Given the description of an element on the screen output the (x, y) to click on. 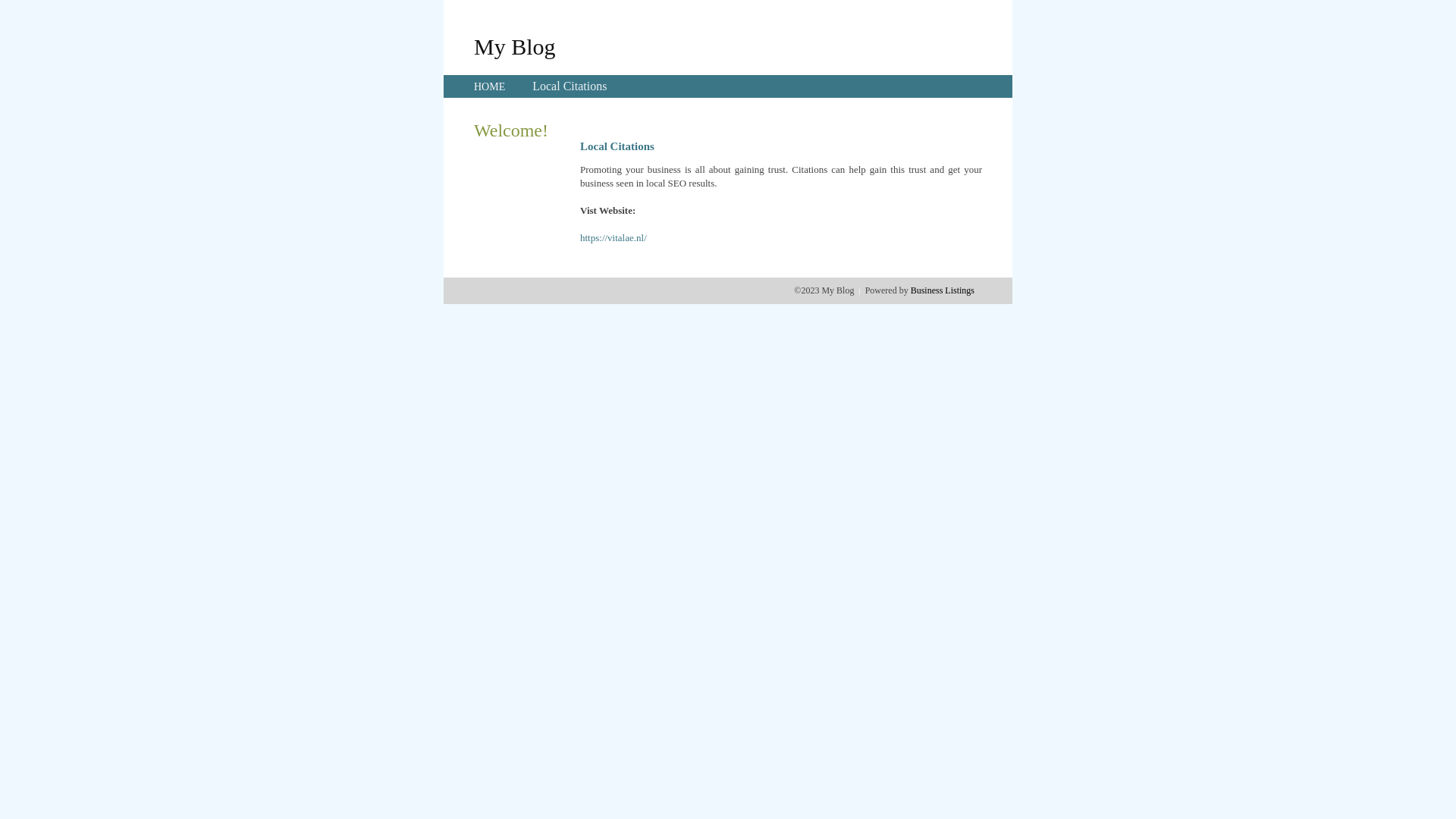
My Blog Element type: text (514, 46)
https://vitalae.nl/ Element type: text (613, 237)
HOME Element type: text (489, 86)
Business Listings Element type: text (942, 290)
Local Citations Element type: text (569, 85)
